Given the description of an element on the screen output the (x, y) to click on. 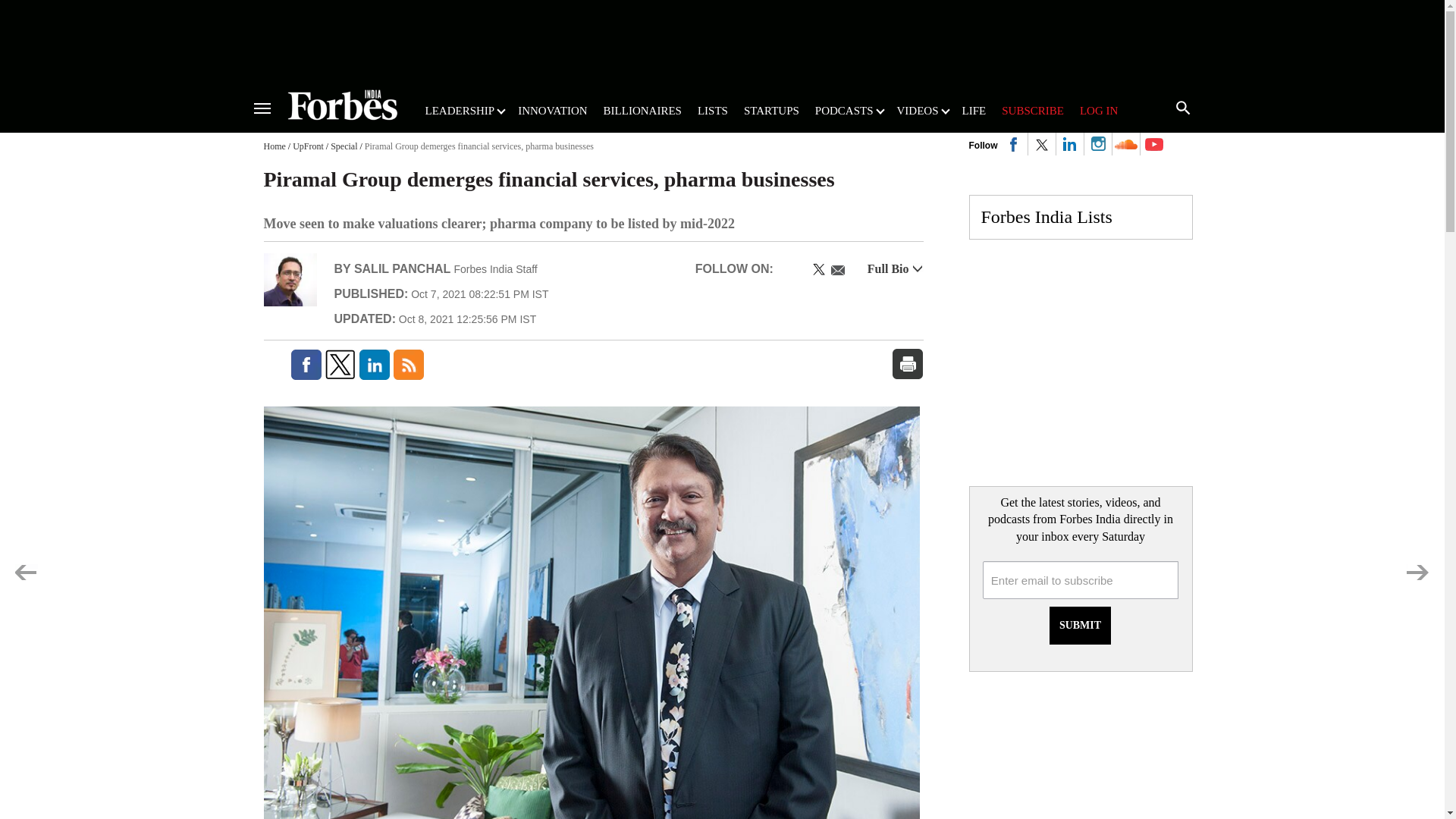
Salil Panchal (290, 279)
